Given the description of an element on the screen output the (x, y) to click on. 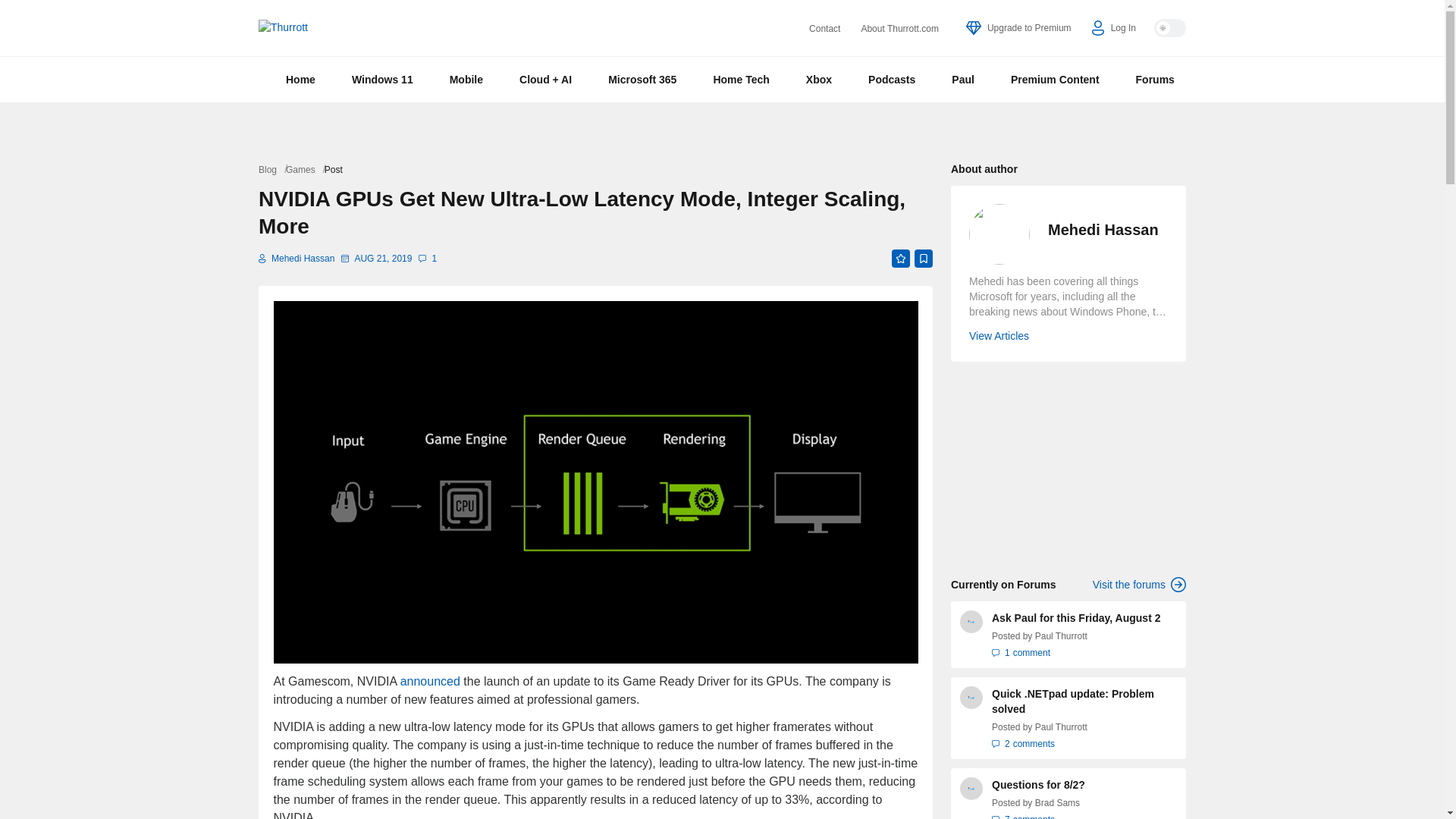
Home (300, 79)
Upgrade to Premium (1018, 28)
Log In (1113, 28)
Windows 11 (382, 79)
Contact (824, 28)
Microsoft 365 (641, 79)
Home Tech (740, 79)
Mobile (466, 79)
About Thurrott.com (899, 28)
